Given the description of an element on the screen output the (x, y) to click on. 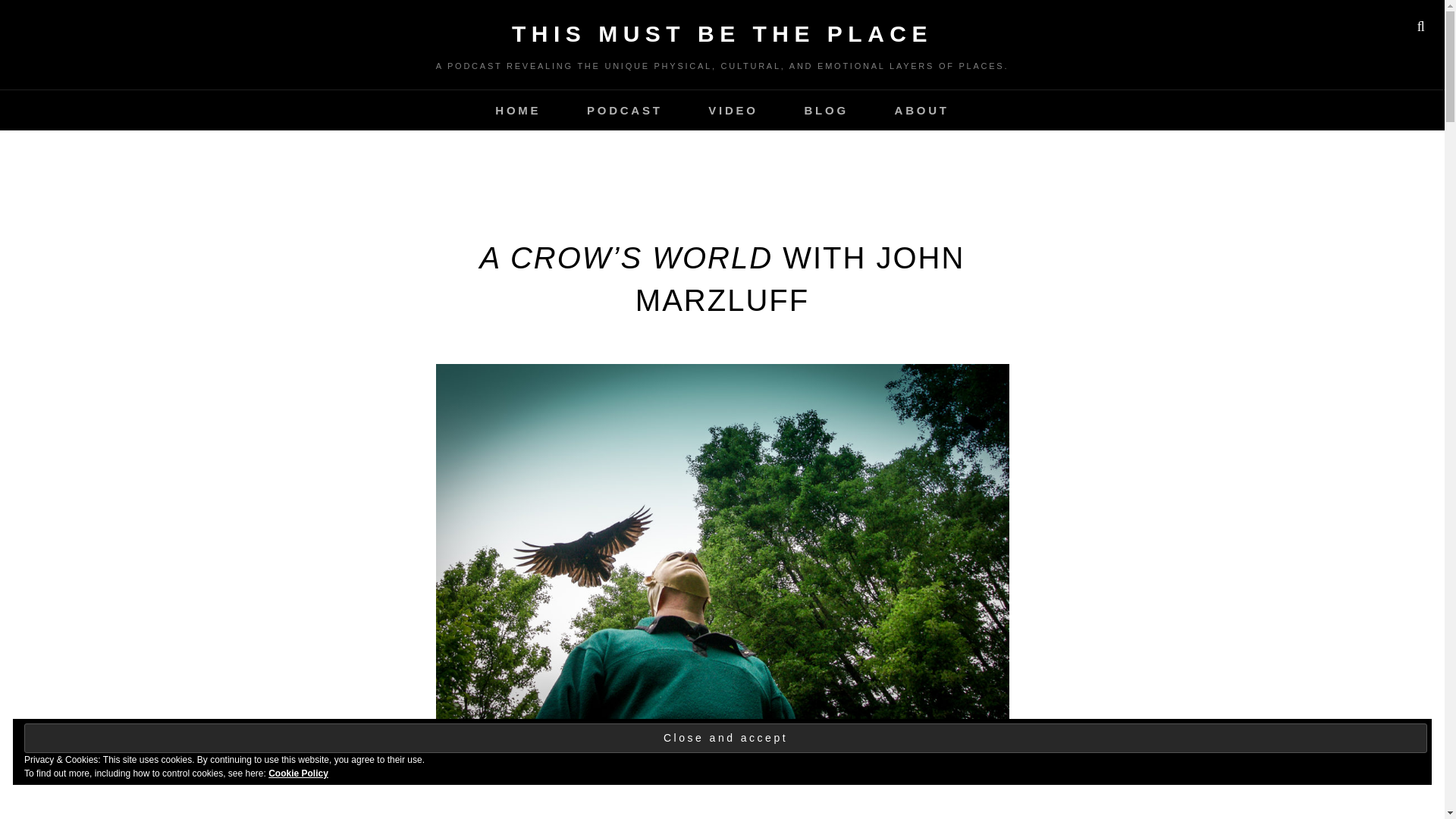
HOME (518, 110)
PODCAST (625, 110)
THIS MUST BE THE PLACE (722, 33)
Close and accept (725, 737)
Blubrry Podcast Player (722, 798)
BLOG (826, 110)
ABOUT (922, 110)
VIDEO (732, 110)
